Given the description of an element on the screen output the (x, y) to click on. 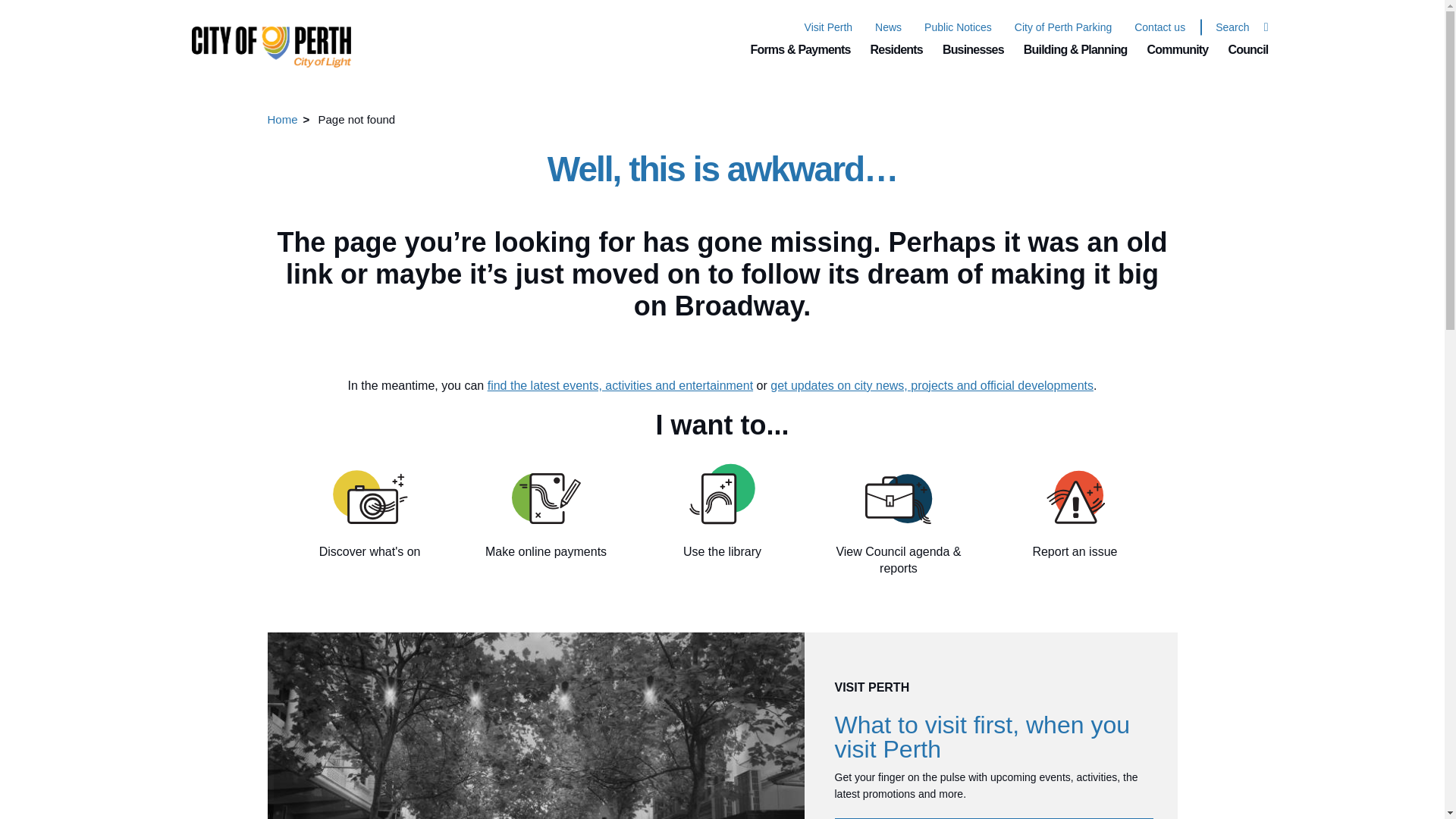
Contact us (1159, 27)
Public Notices (957, 27)
Residents (896, 49)
Visit Perth (829, 27)
Header Logo (263, 40)
City of Perth Parking (1063, 27)
Businesses (973, 49)
News (888, 27)
Search (1233, 27)
